Given the description of an element on the screen output the (x, y) to click on. 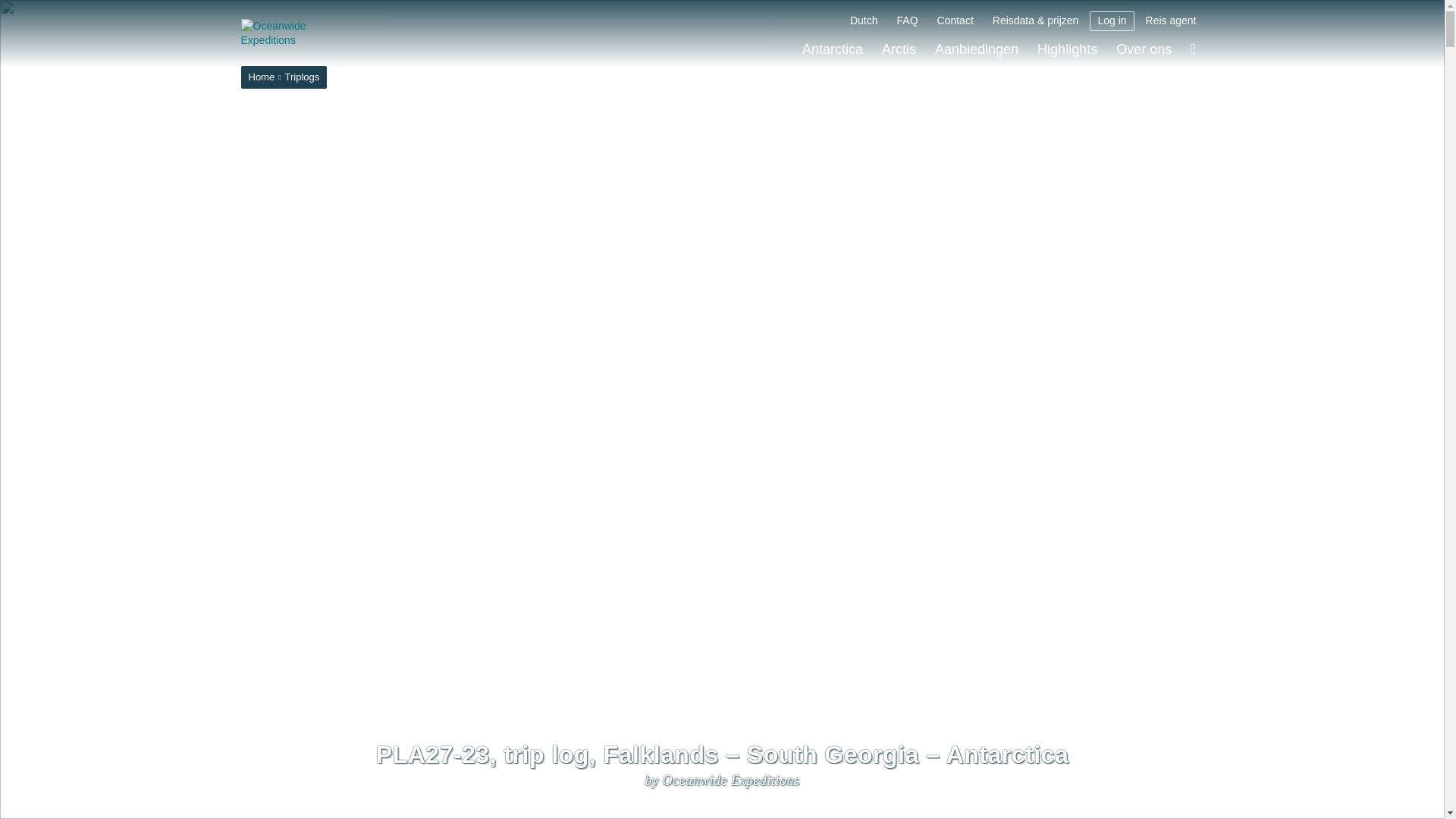
Contact (955, 21)
Aanbiedingen (976, 49)
Dutch (864, 21)
Log in (1111, 21)
Reis agent (1171, 21)
FAQ (907, 21)
Arctis (899, 49)
Highlights (1067, 49)
Oceanwide Expeditions (295, 33)
Antarctica (832, 49)
